Given the description of an element on the screen output the (x, y) to click on. 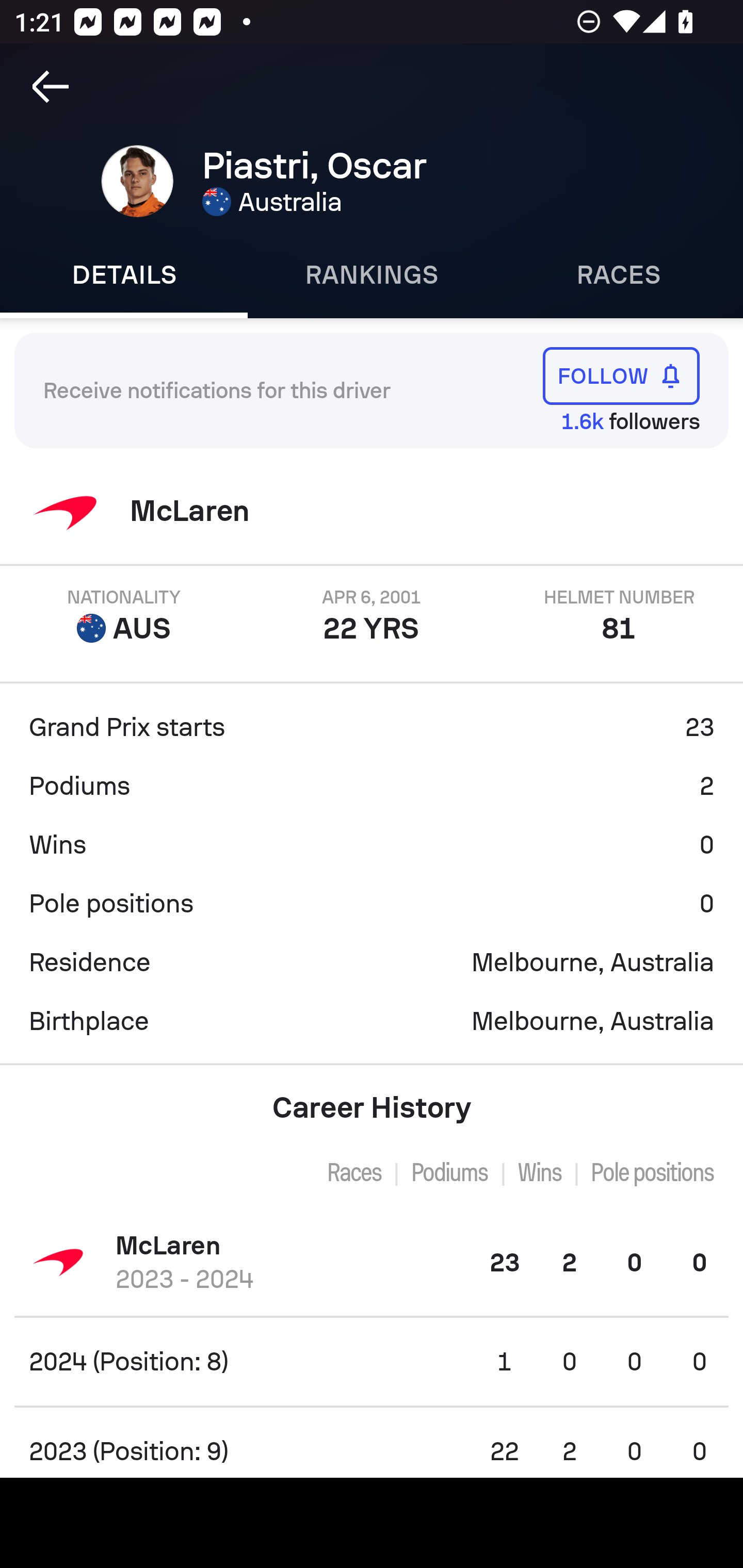
Navigate up (50, 86)
Rankings RANKINGS (371, 275)
Races RACES (619, 275)
FOLLOW (621, 375)
NATIONALITY AUS (123, 616)
Grand Prix starts 23 (371, 727)
Podiums 2 (371, 786)
Wins 0 (371, 844)
Pole positions 0 (371, 903)
Residence Melbourne, Australia (371, 962)
Birthplace Melbourne, Australia (371, 1021)
McLaren 2023 - 2024 23 2 0 0 (371, 1261)
2024 (Position: 8) 1 0 0 0 (371, 1360)
2023 (Position: 9) 22 2 0 0 (371, 1442)
